Given the description of an element on the screen output the (x, y) to click on. 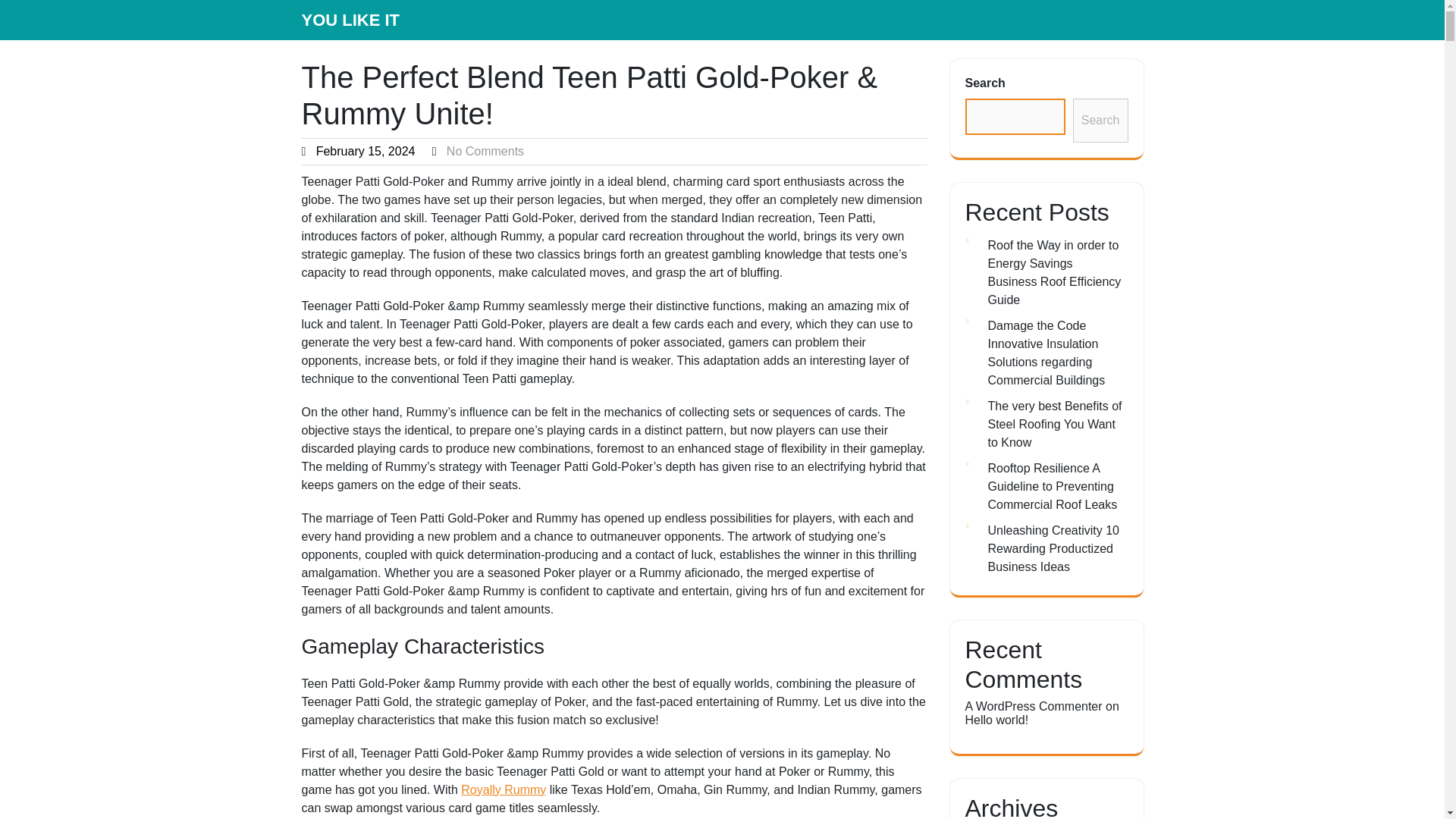
Search (1100, 120)
YOU LIKE IT (350, 19)
Royally Rummy (503, 789)
No Comments (485, 151)
The very best Benefits of Steel Roofing You Want to Know (1054, 423)
Hello world! (995, 719)
A WordPress Commenter (1032, 706)
